Given the description of an element on the screen output the (x, y) to click on. 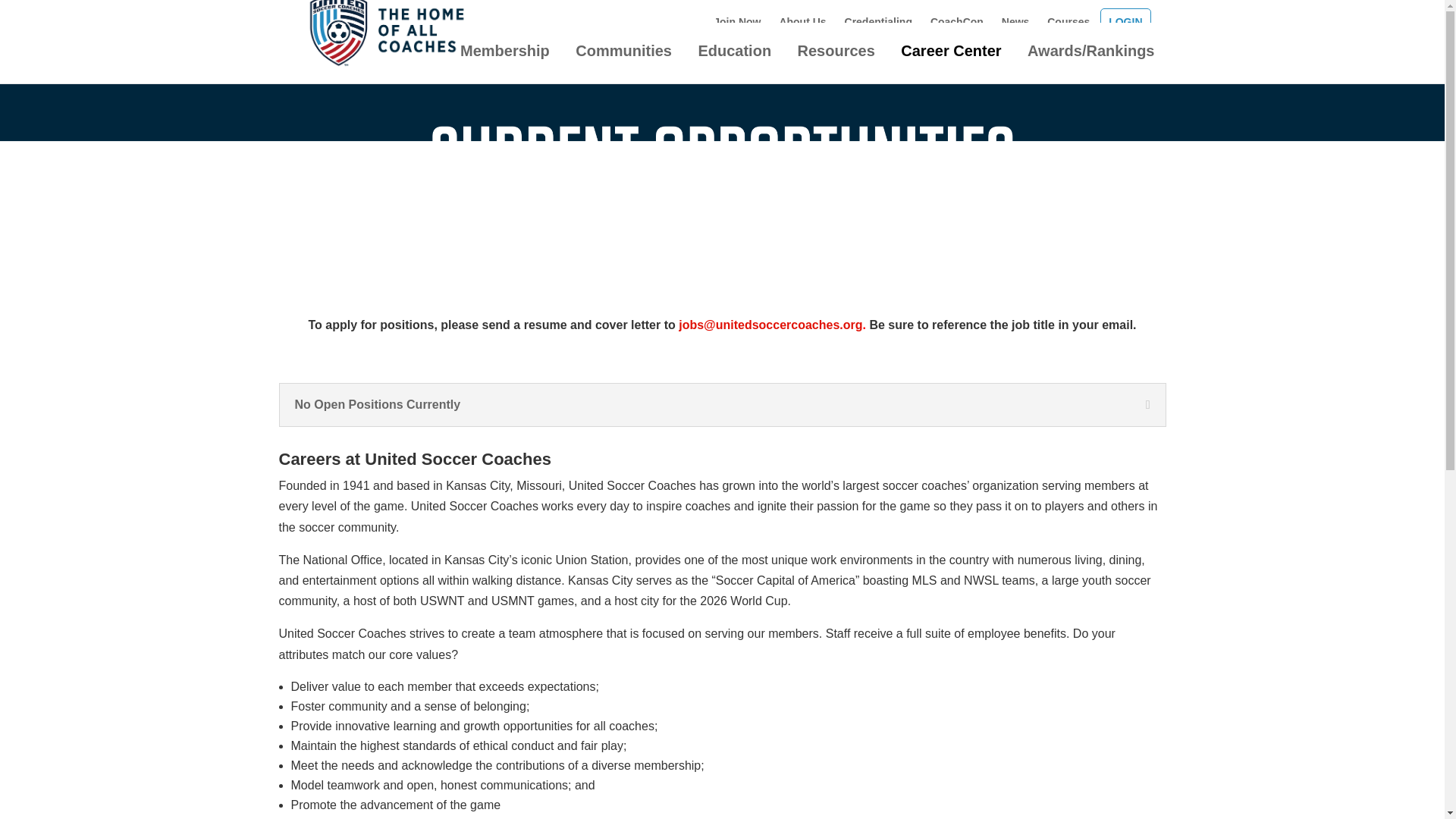
LOGIN (1124, 26)
Credentialing (878, 26)
About Us (801, 26)
Courses (1067, 26)
Membership (505, 58)
Career Center (951, 58)
Education (734, 58)
CoachCon (957, 26)
News (1015, 26)
Communities (623, 58)
